Given the description of an element on the screen output the (x, y) to click on. 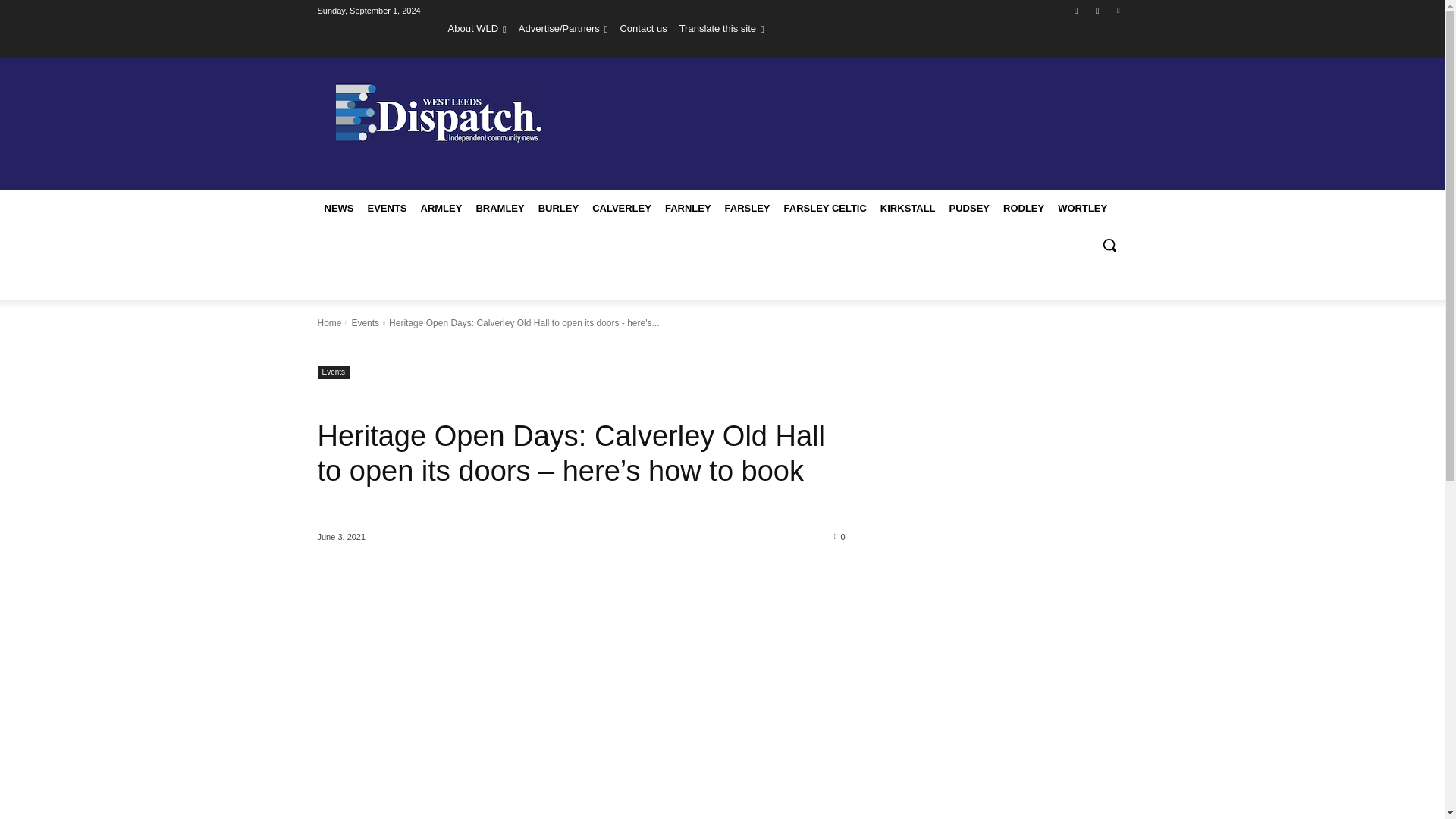
About WLD (477, 28)
Contact us (643, 28)
Translate this site (721, 28)
